Given the description of an element on the screen output the (x, y) to click on. 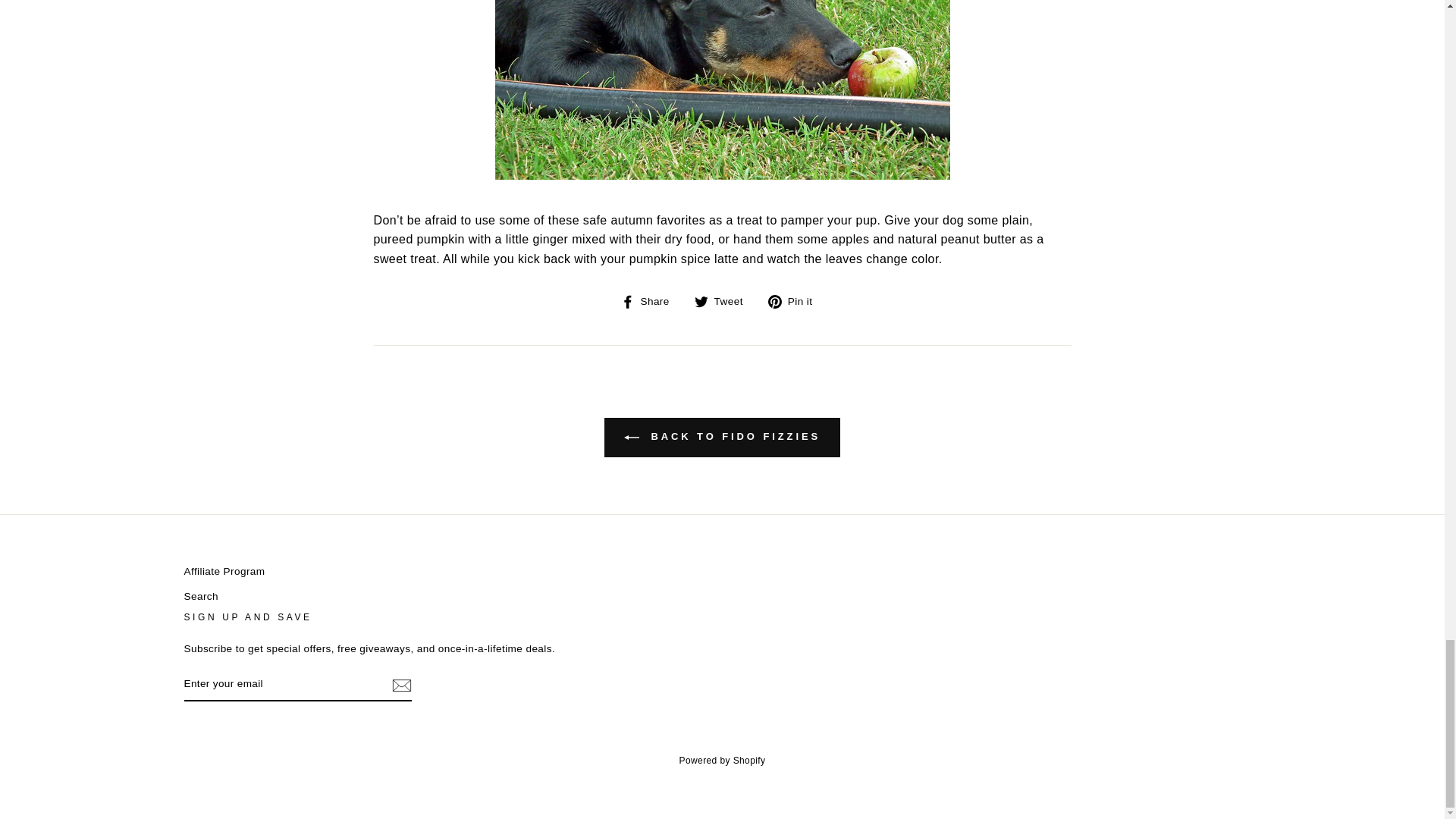
Tweet on Twitter (724, 301)
Share on Facebook (651, 301)
Pin on Pinterest (796, 301)
